Given the description of an element on the screen output the (x, y) to click on. 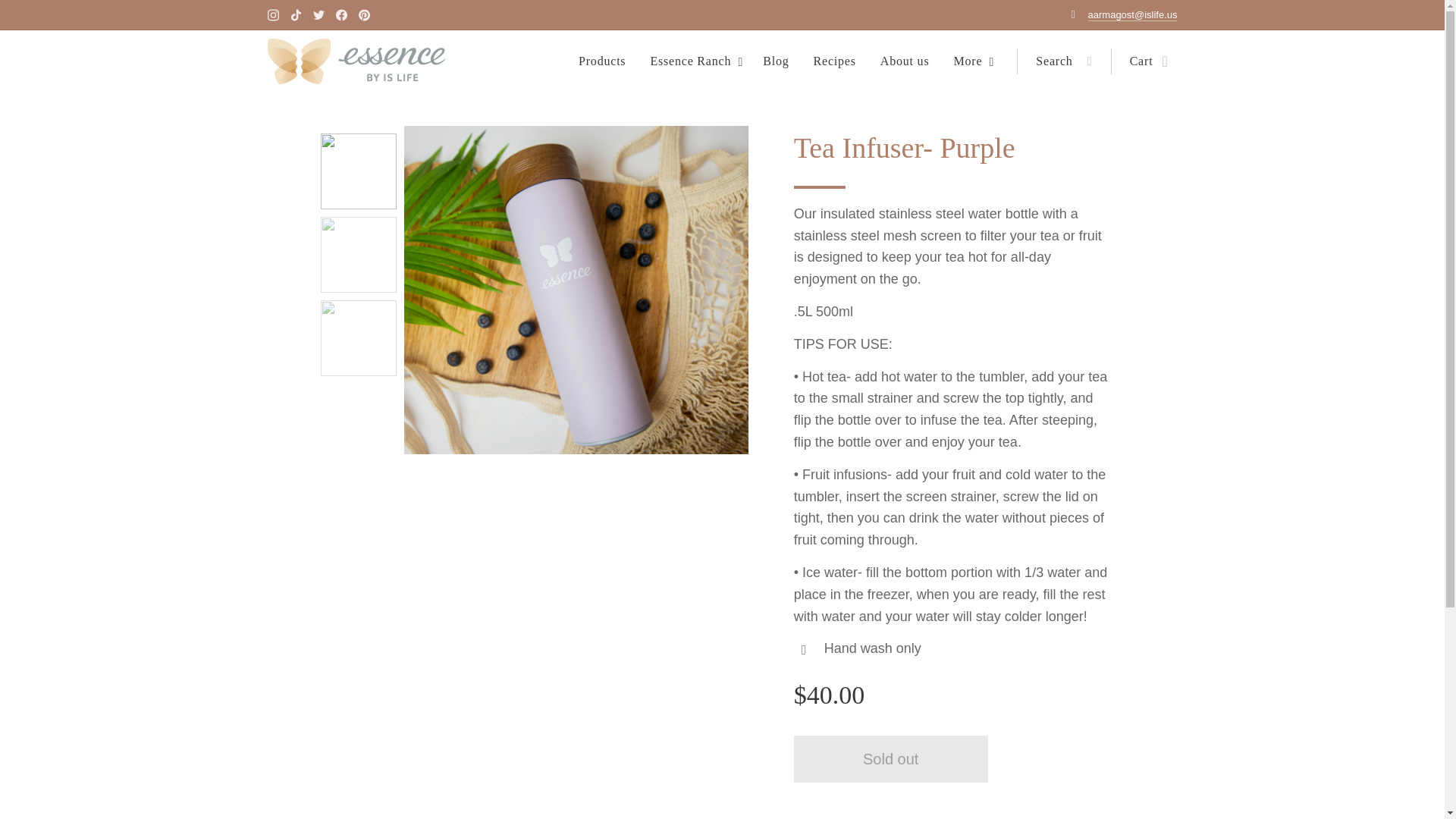
Sold out (890, 758)
Products (606, 61)
Essence Ranch (694, 61)
Recipes (834, 61)
More (970, 61)
Blog (775, 61)
About us (904, 61)
Cart (1143, 61)
